Given the description of an element on the screen output the (x, y) to click on. 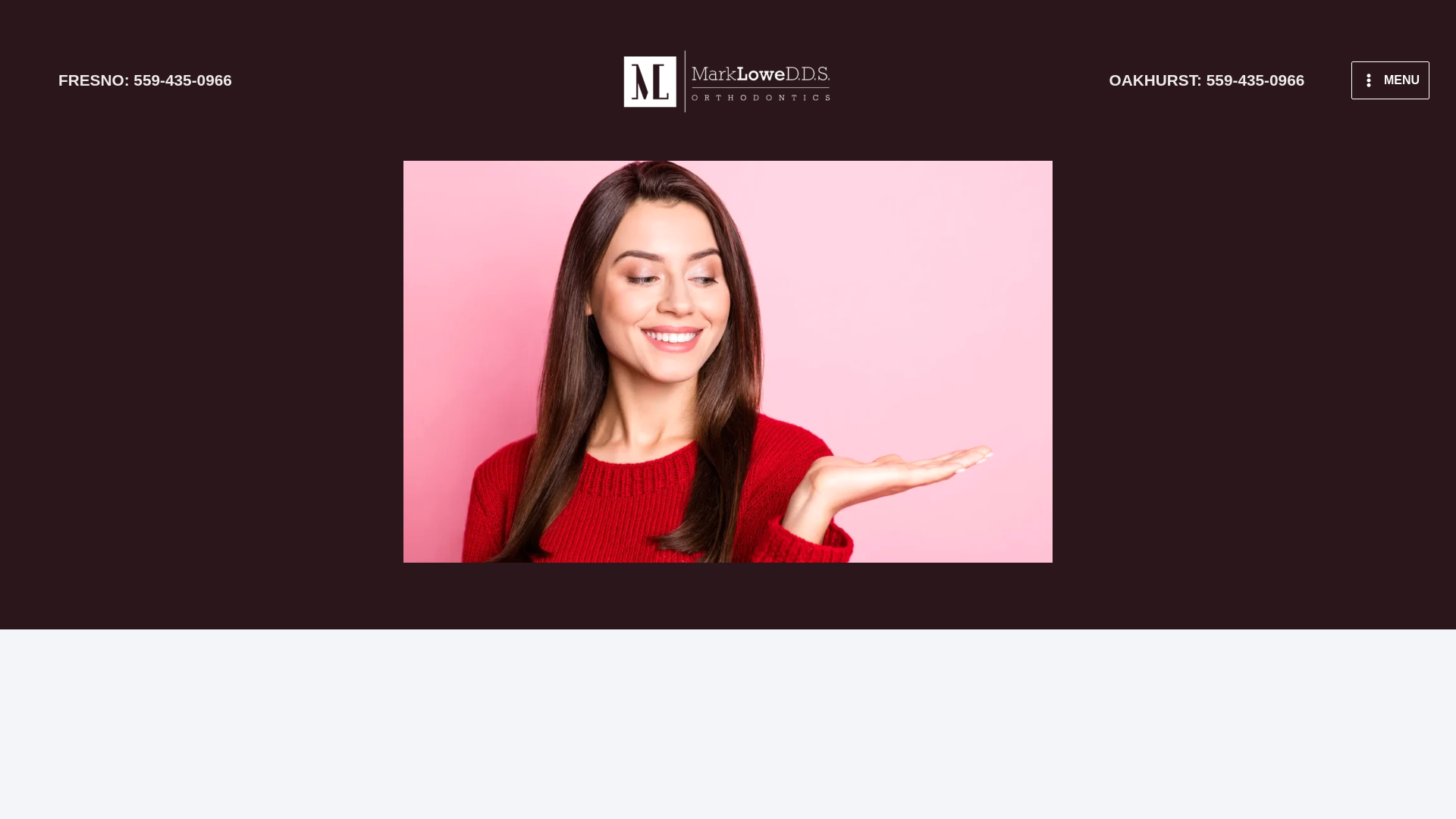
FRESNO: 559-435-0966 (1390, 80)
OAKHURST: 559-435-0966 (144, 80)
